Given the description of an element on the screen output the (x, y) to click on. 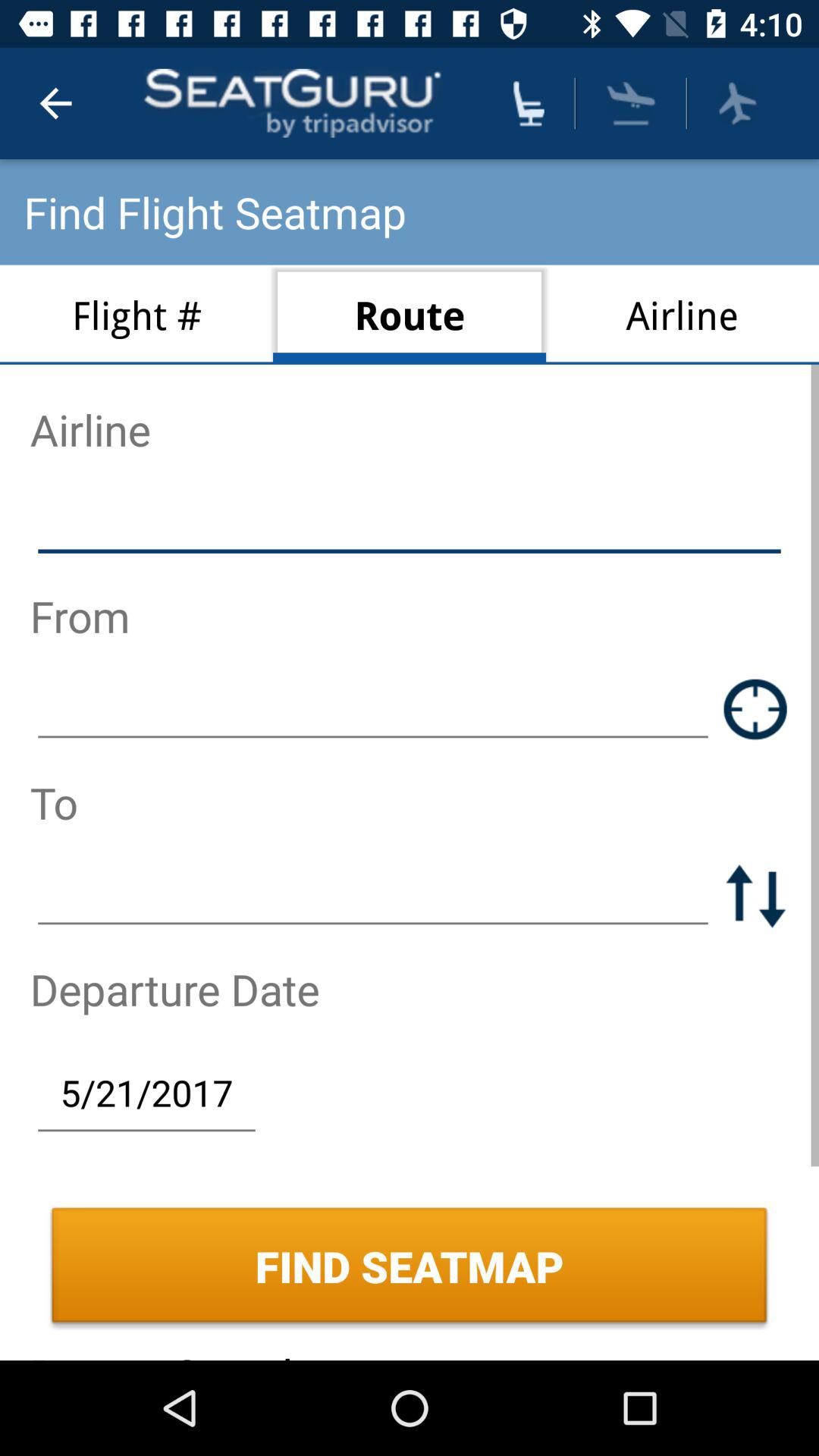
switch to and from (755, 895)
